Given the description of an element on the screen output the (x, y) to click on. 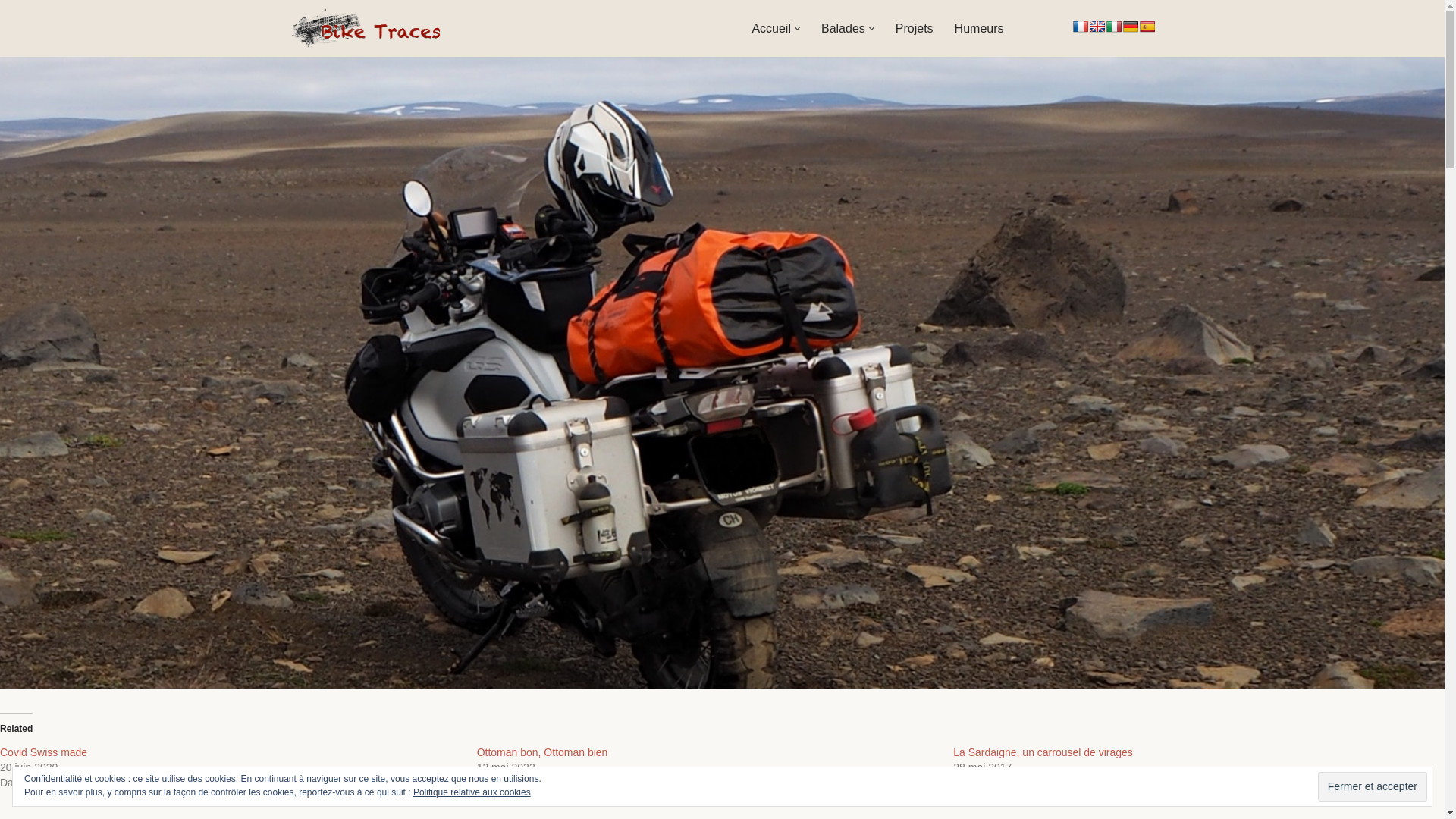
Italian Element type: hover (1112, 26)
Aller au contenu Element type: text (11, 31)
Spanish Element type: hover (1146, 26)
Humeurs Element type: text (979, 28)
Covid Swiss made Element type: text (43, 752)
French Element type: hover (1079, 26)
Politique relative aux cookies Element type: text (471, 792)
Accueil Element type: text (770, 28)
Balades Element type: text (843, 28)
English Element type: hover (1096, 26)
Fermer et accepter Element type: text (1372, 786)
La Sardaigne, un carrousel de virages Element type: text (1042, 752)
German Element type: hover (1129, 26)
Projets Element type: text (914, 28)
Ottoman bon, Ottoman bien Element type: text (542, 752)
